Given the description of an element on the screen output the (x, y) to click on. 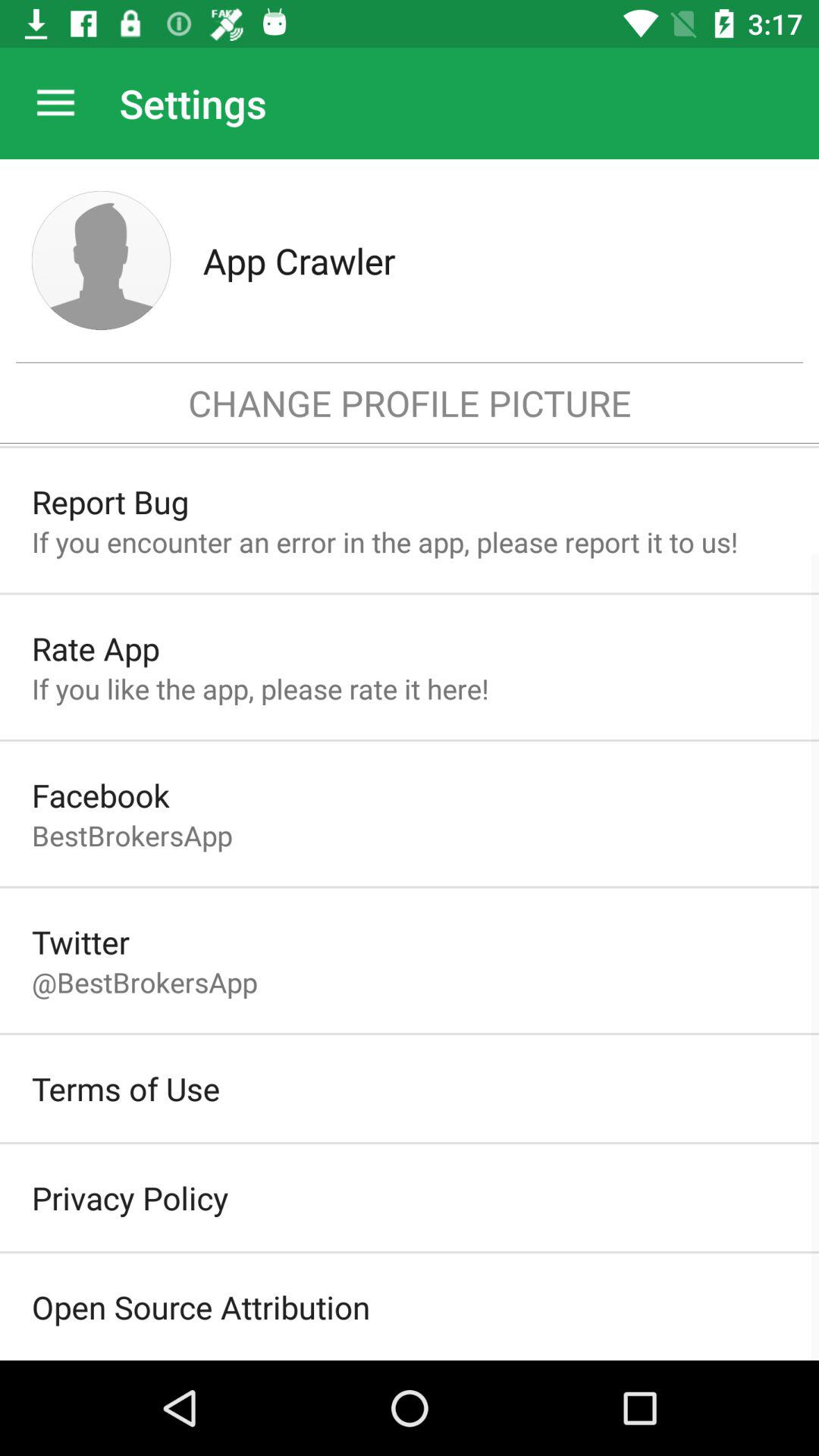
select report bug (109, 501)
